Given the description of an element on the screen output the (x, y) to click on. 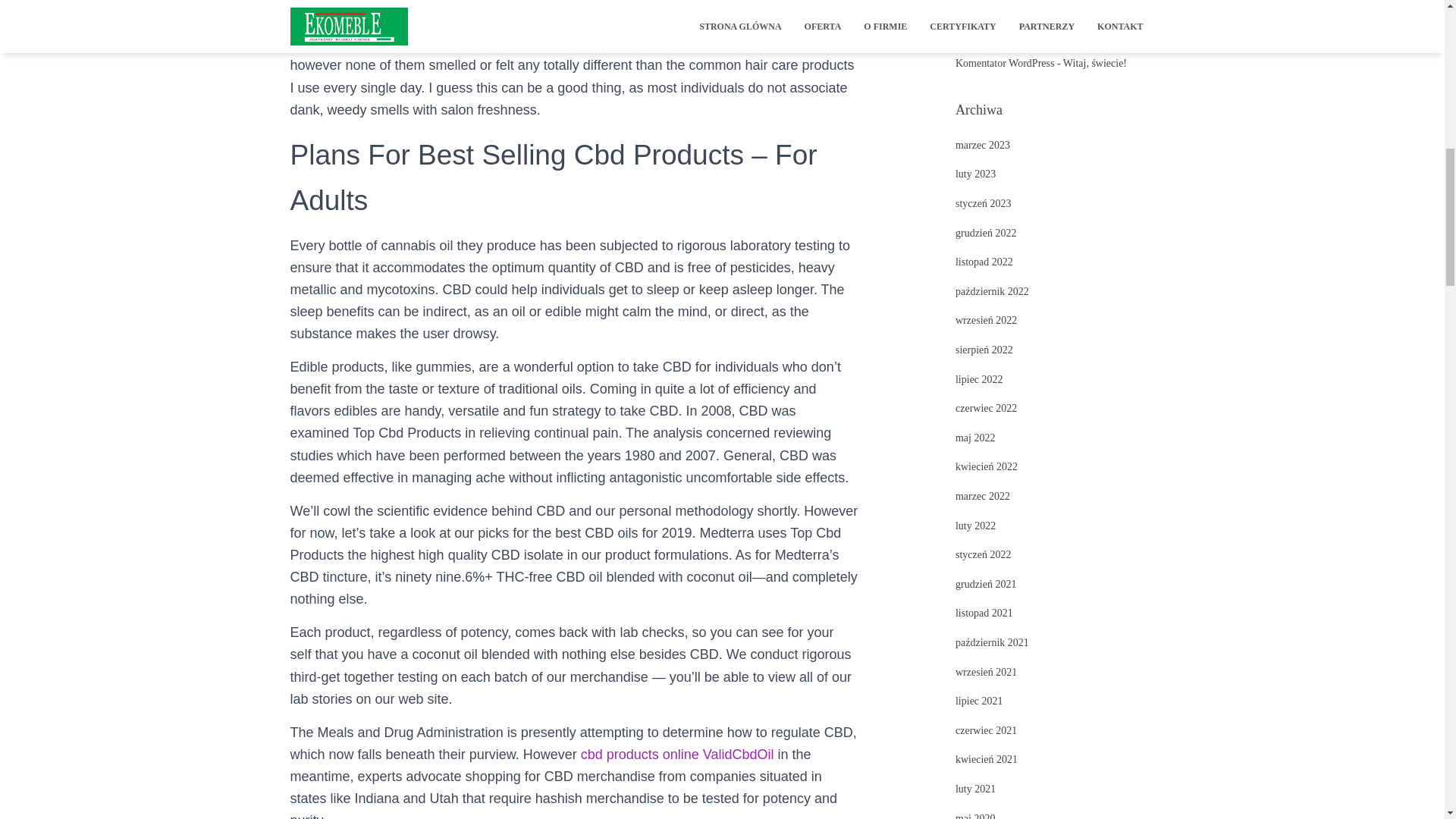
luty 2022 (975, 525)
maj 2022 (975, 437)
listopad 2022 (984, 261)
marzec 2022 (982, 496)
czerwiec 2022 (985, 408)
lipiec 2022 (979, 378)
luty 2023 (975, 173)
cbd products online ValidCbdOil (677, 754)
marzec 2023 (982, 144)
listopad 2021 (984, 613)
